Given the description of an element on the screen output the (x, y) to click on. 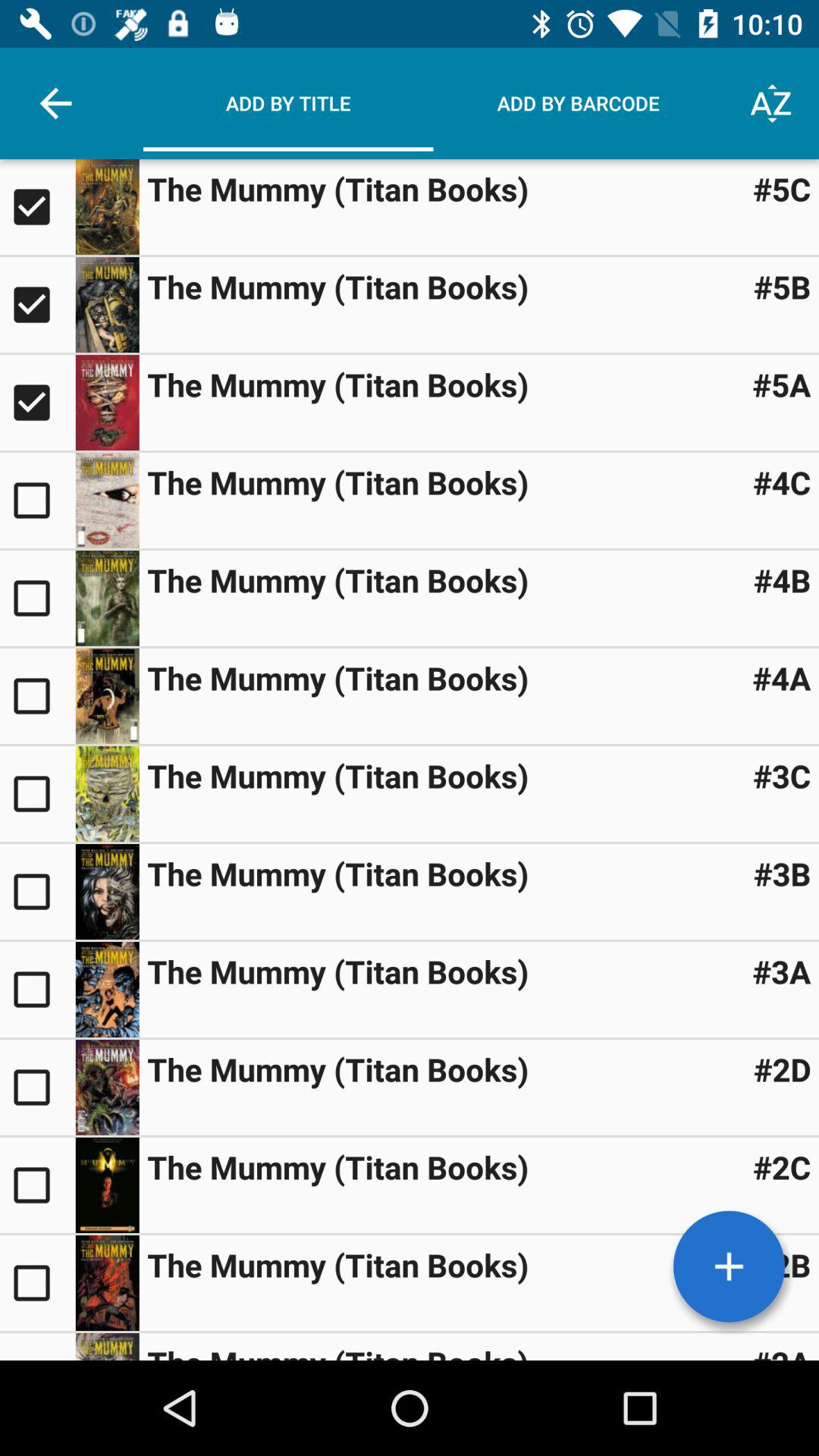
enlarge image (107, 598)
